Given the description of an element on the screen output the (x, y) to click on. 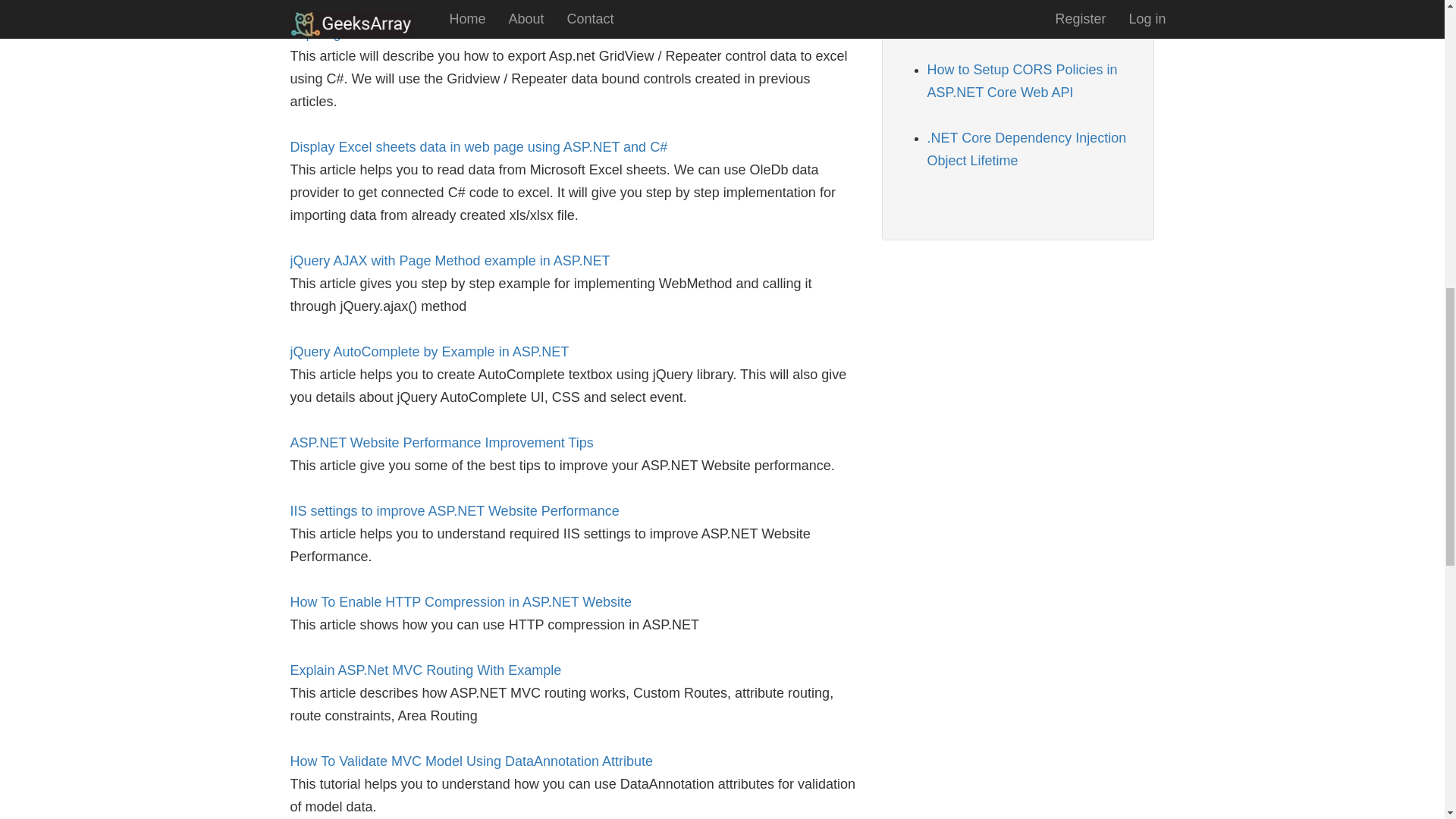
ASP.NET Website Performance Improvement Tips (440, 442)
Explain ASP.Net MVC Routing With Example (424, 670)
.NET Core Dependency Injection Object Lifetime (1025, 149)
IIS settings to improve ASP.NET Website Performance (453, 510)
How To Enable HTTP Compression in ASP.NET Website (460, 601)
jQuery AJAX with Page Method example in ASP.NET (449, 260)
How to Setup CORS Policies in ASP.NET Core Web API (1021, 80)
How To Validate MVC Model Using DataAnnotation Attribute (470, 761)
jQuery AutoComplete by Example in ASP.NET (429, 351)
Export gridview content to excel (385, 32)
Generate Log using Serilog And Seq In ASP.NET Core MVC 6 (1022, 15)
